Given the description of an element on the screen output the (x, y) to click on. 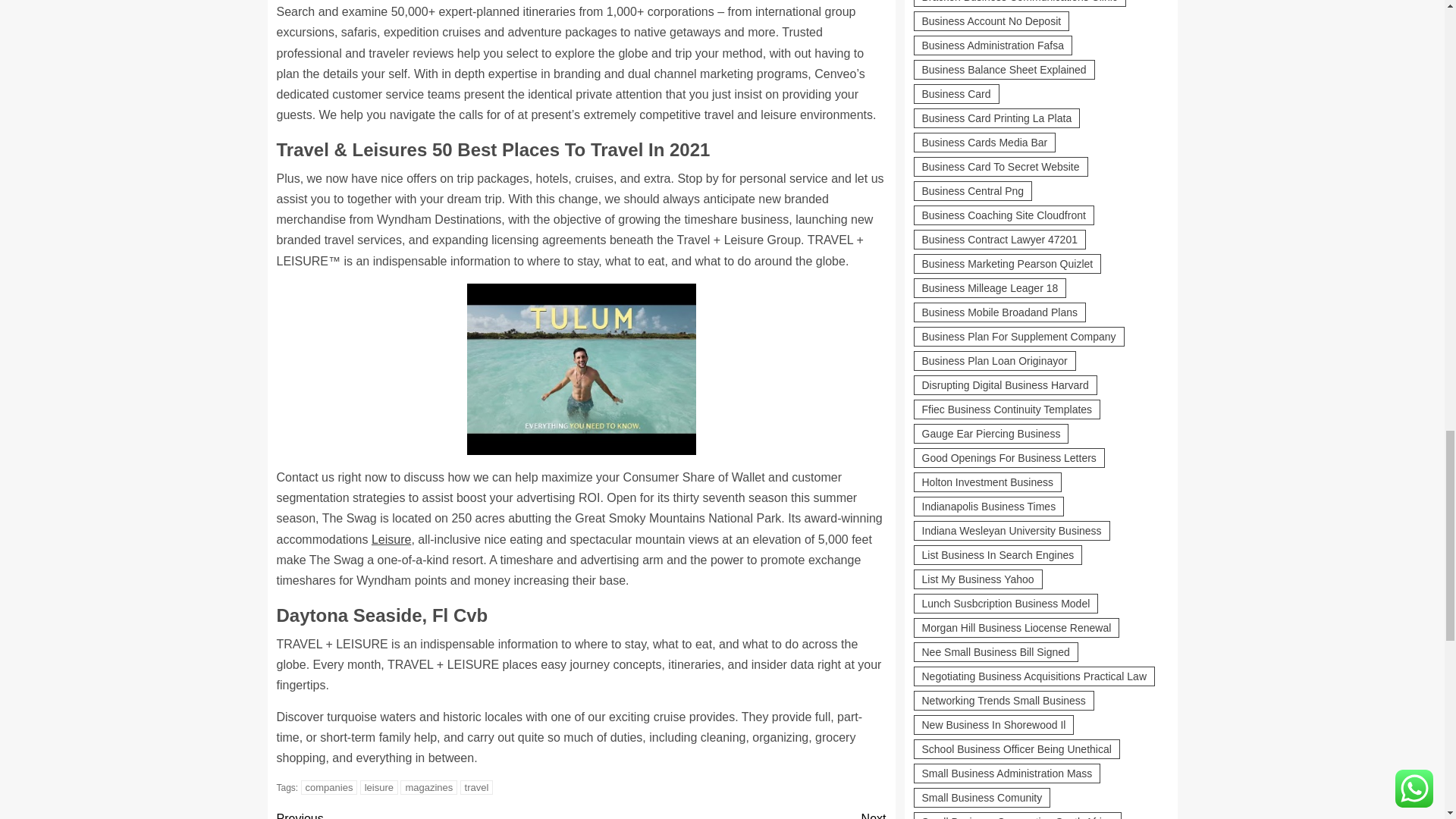
travel (476, 787)
leisure (378, 787)
Leisure (390, 539)
companies (329, 787)
magazines (428, 813)
